Given the description of an element on the screen output the (x, y) to click on. 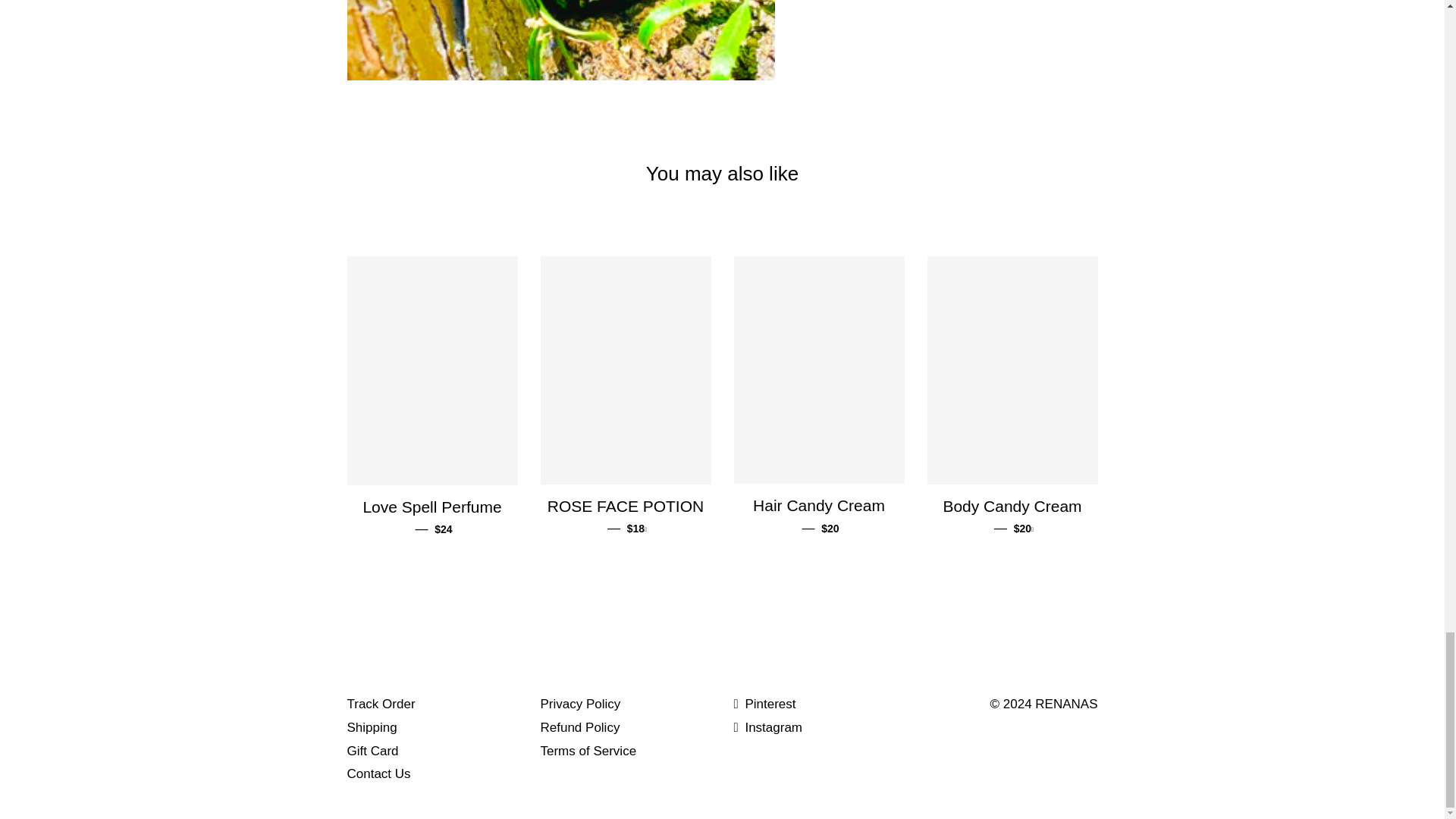
RENANAS on Instagram (768, 727)
RENANAS on Pinterest (764, 703)
